Given the description of an element on the screen output the (x, y) to click on. 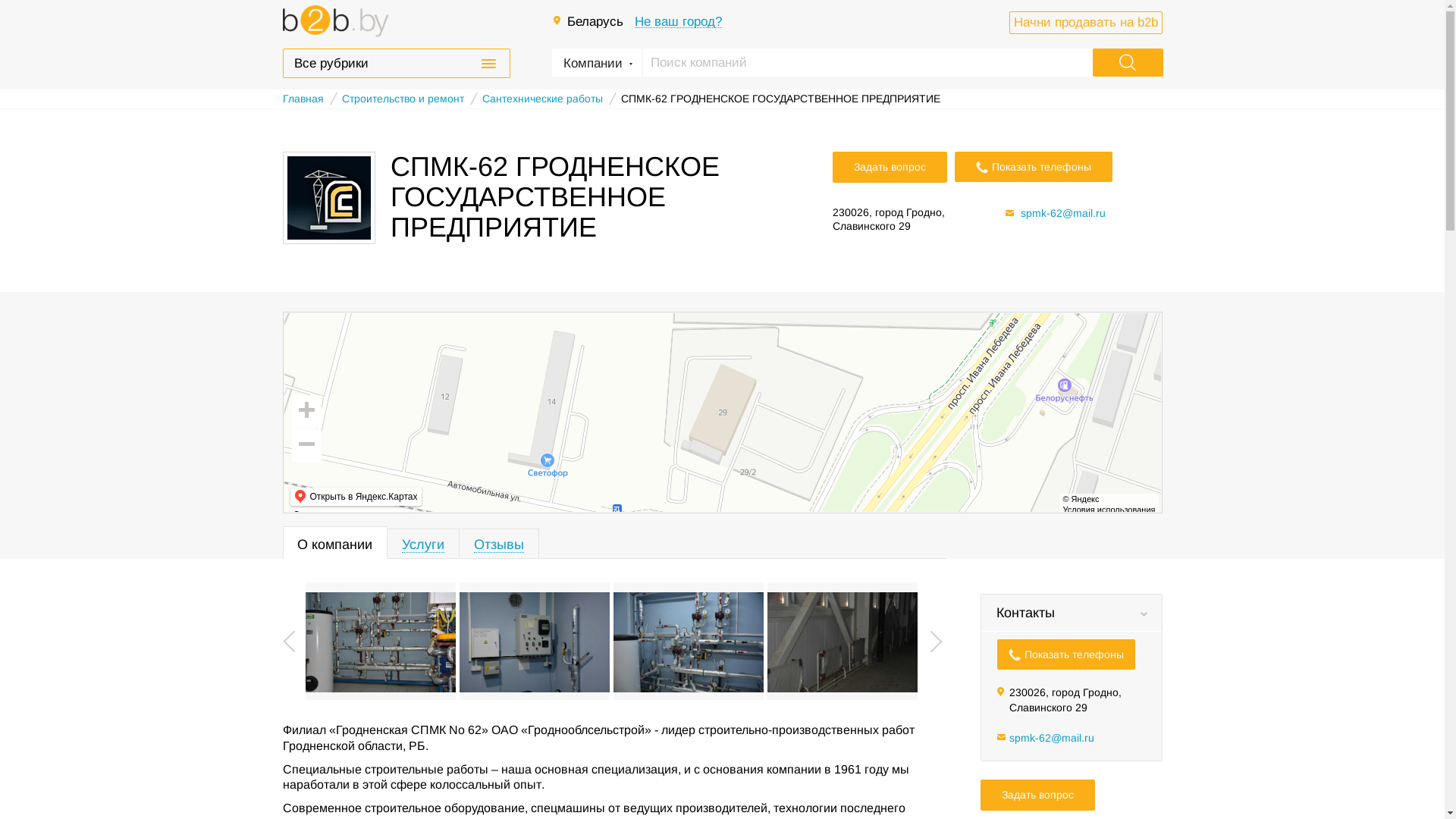
spmk-62@mail.ru Element type: text (1062, 213)
spmk-62@mail.ru Element type: text (1050, 737)
Previous Element type: text (288, 640)
Next Element type: text (935, 640)
